Given the description of an element on the screen output the (x, y) to click on. 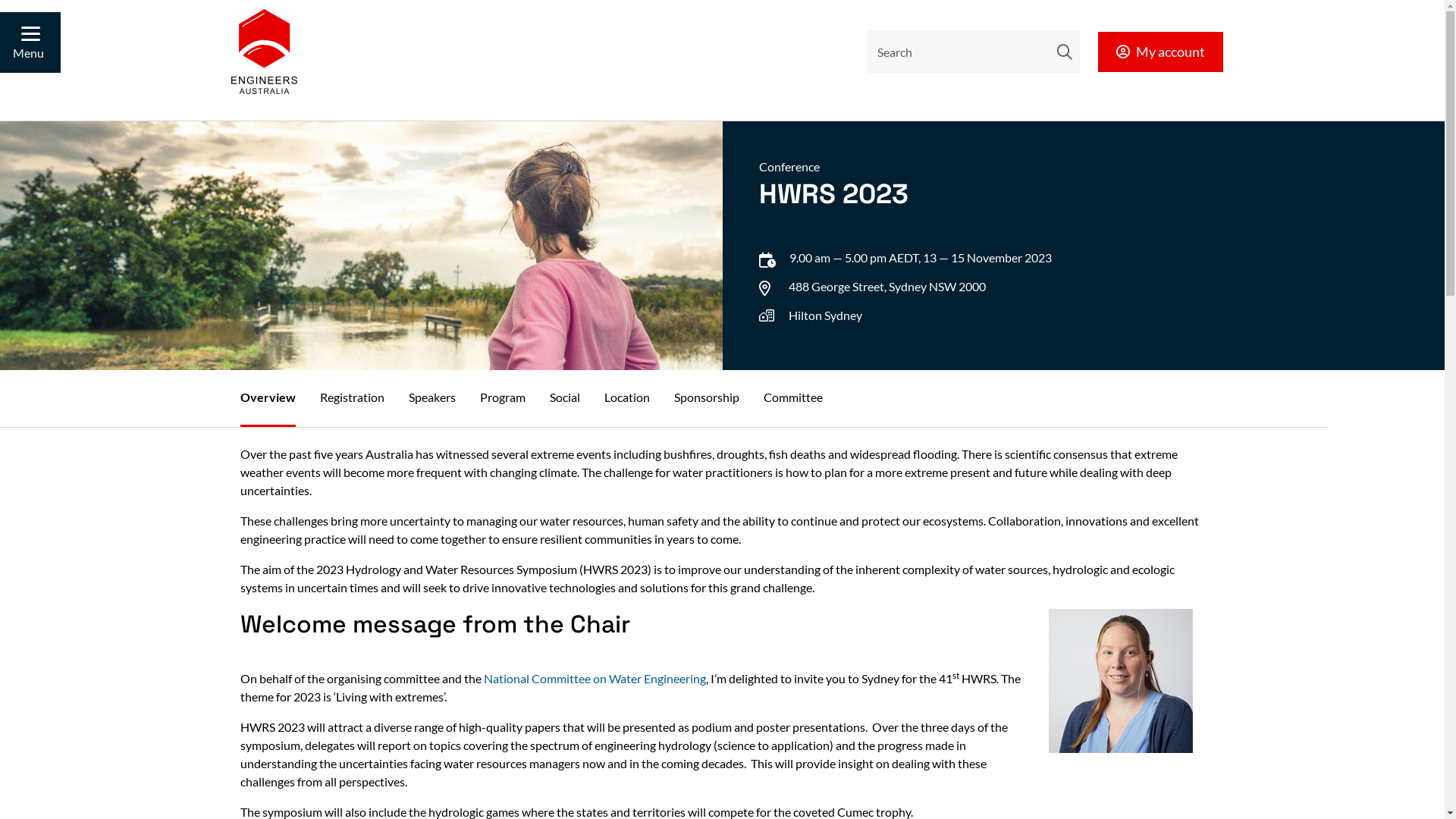
Registration Element type: text (352, 397)
search submit Element type: hover (1064, 51)
Location Element type: text (626, 397)
Save Element type: text (491, 15)
Speakers Element type: text (431, 397)
Enter the terms you wish to search for. Element type: hover (973, 51)
My account Element type: text (1160, 51)
Social Element type: text (564, 397)
search Element type: text (1064, 51)
Mobile
Menu Element type: text (30, 42)
Committee Element type: text (792, 397)
National Committee on Water Engineering Element type: text (594, 678)
Back to homepage Element type: text (263, 51)
Program Element type: text (501, 397)
Sponsorship Element type: text (705, 397)
Overview Element type: text (266, 398)
